Given the description of an element on the screen output the (x, y) to click on. 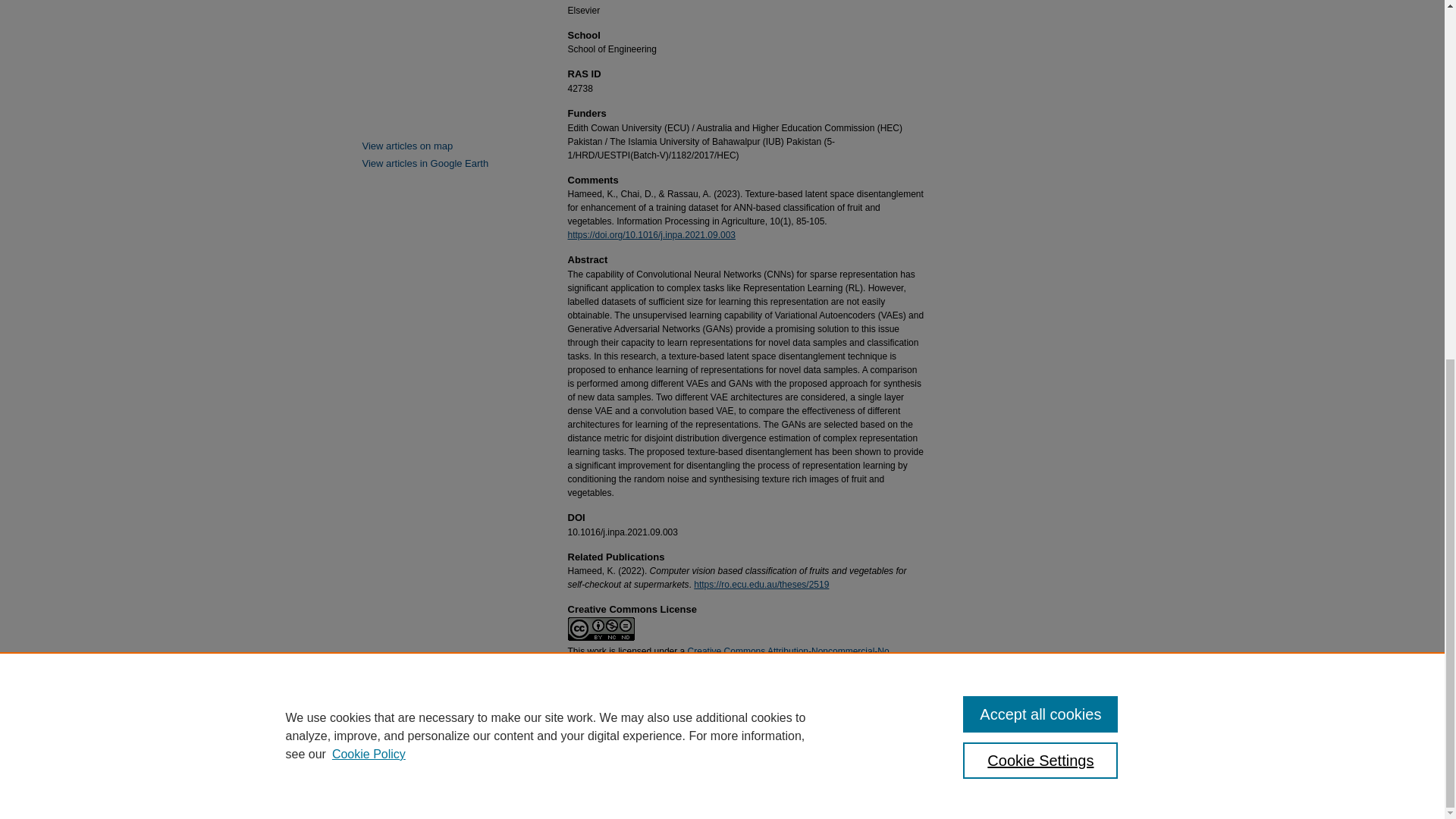
link to publication (651, 235)
Link to Thesis (761, 584)
